Given the description of an element on the screen output the (x, y) to click on. 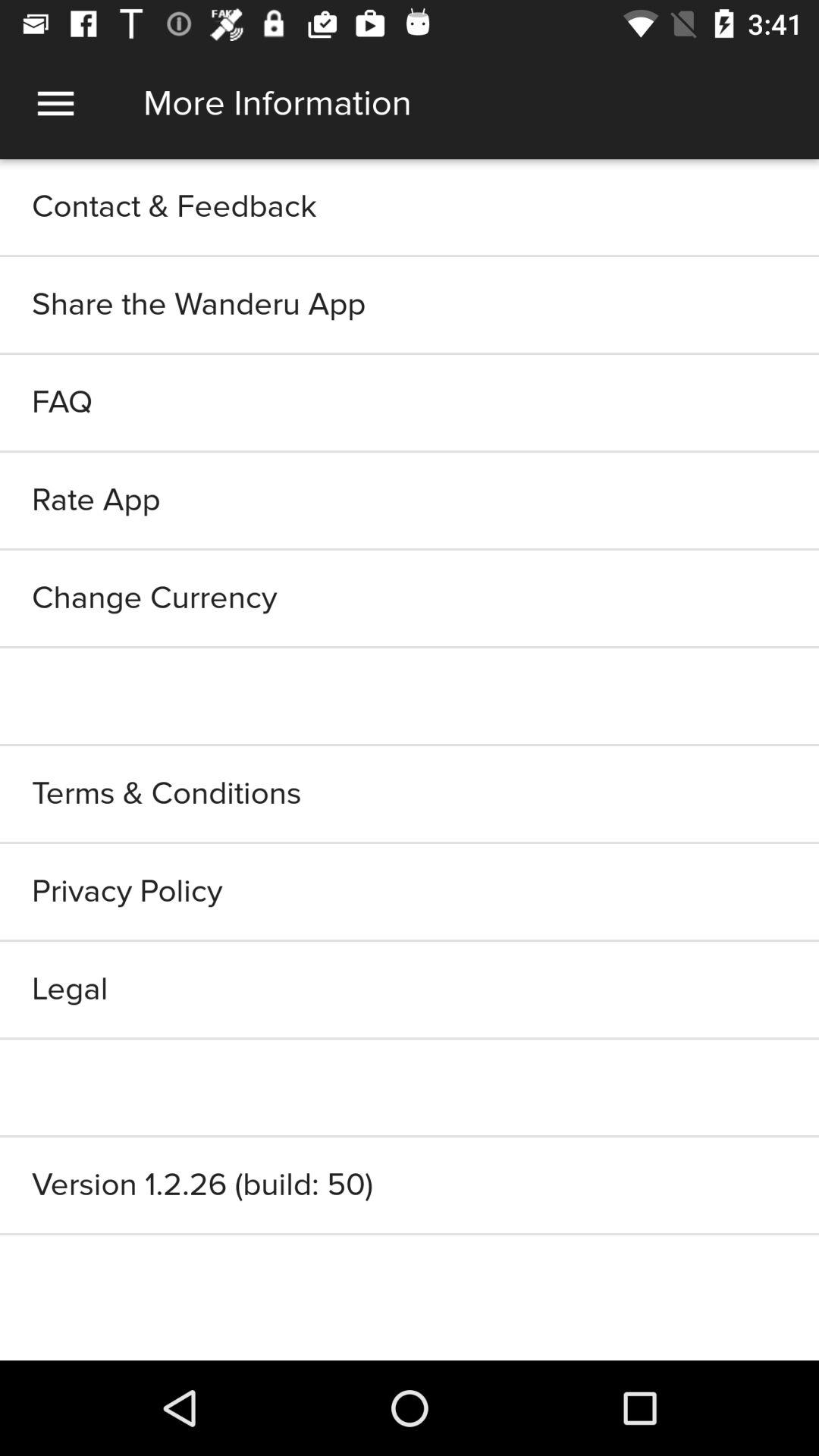
turn off the share the wanderu item (409, 304)
